Given the description of an element on the screen output the (x, y) to click on. 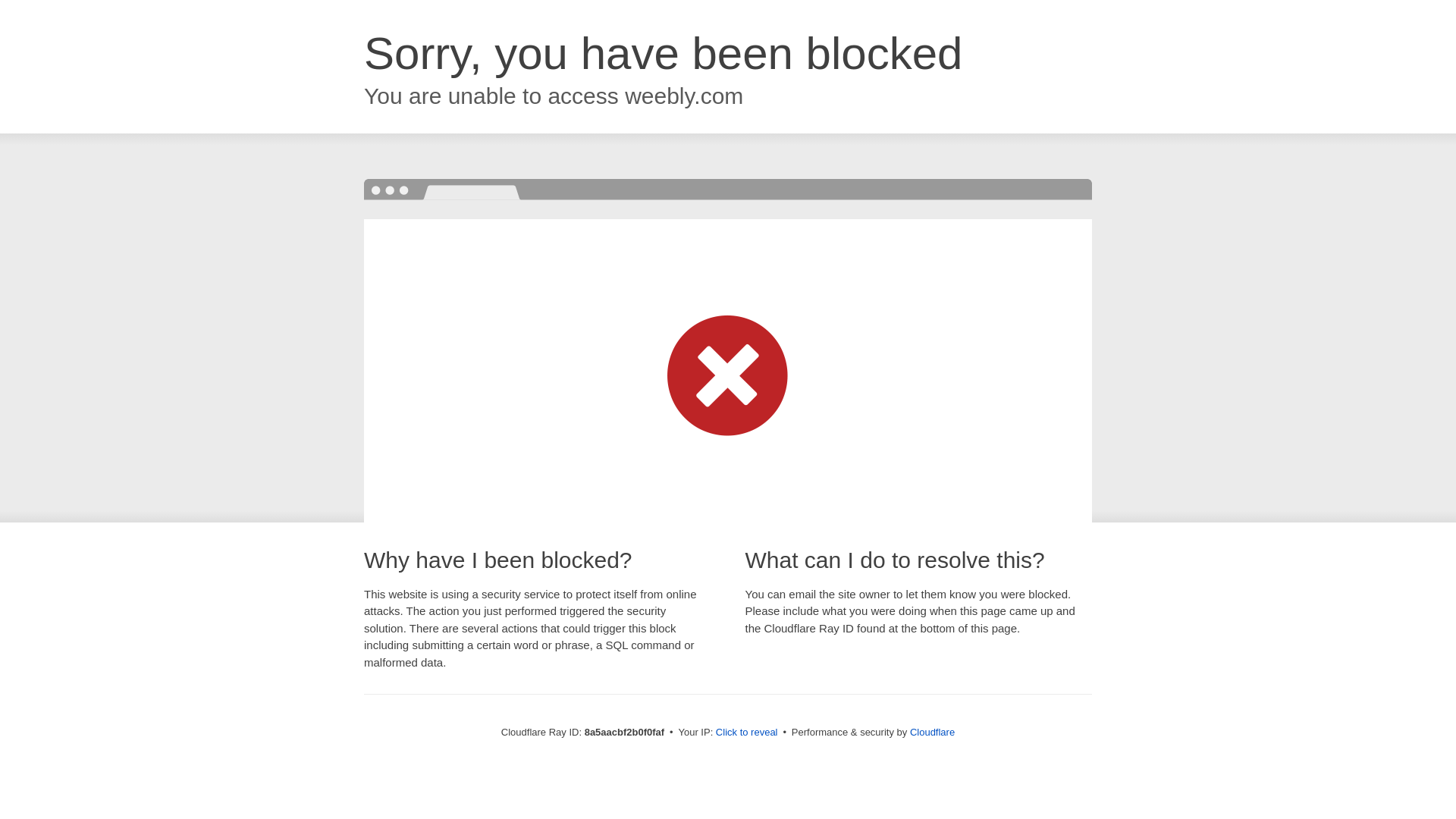
Click to reveal (746, 732)
Cloudflare (932, 731)
